Given the description of an element on the screen output the (x, y) to click on. 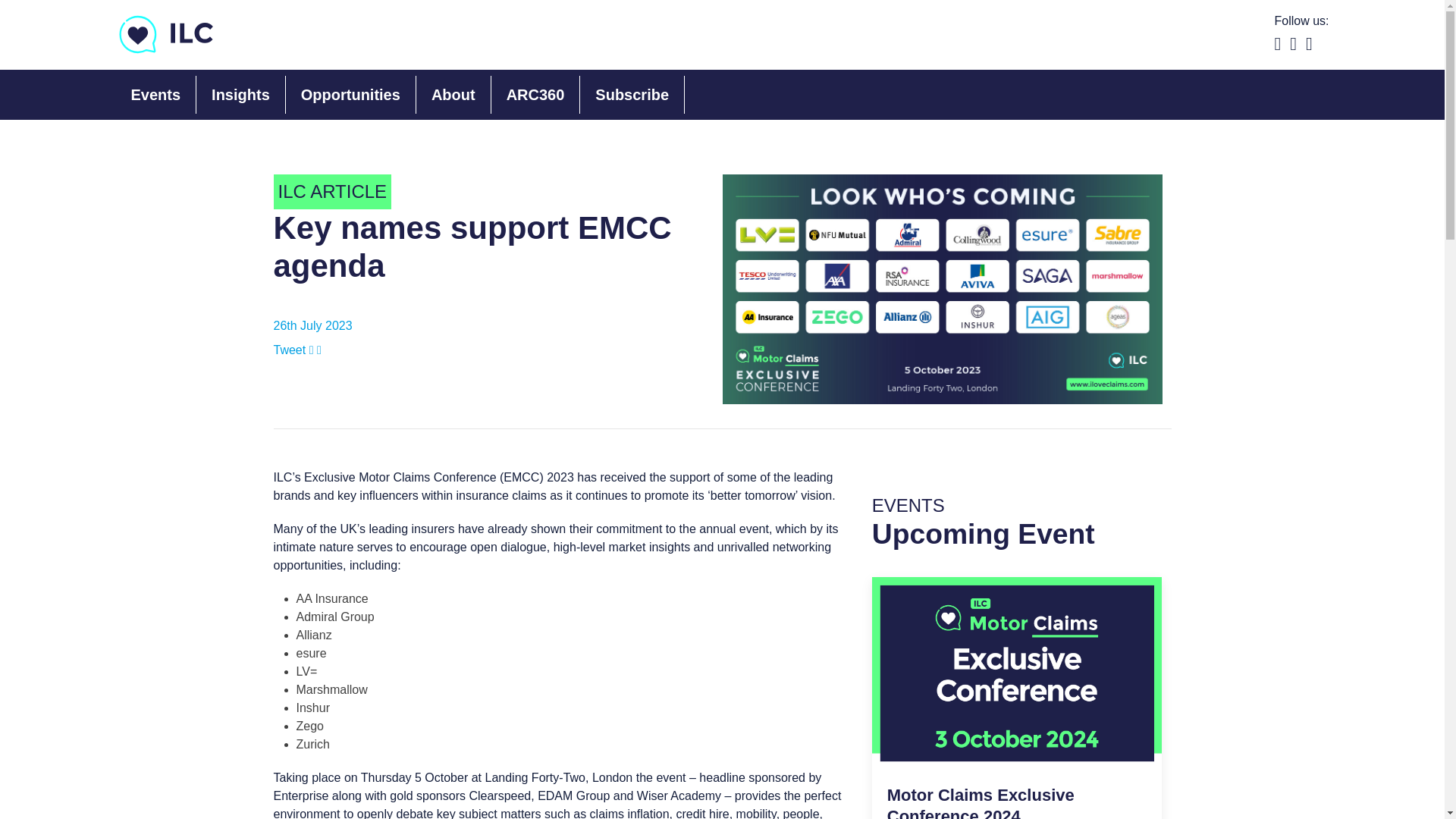
Events (1016, 698)
Tweet (155, 94)
Opportunities (290, 349)
About (349, 94)
Motor Claims Exclusive Conference 2024 (453, 94)
Insights (980, 802)
ARC360 (240, 94)
Subscribe (535, 94)
